Given the description of an element on the screen output the (x, y) to click on. 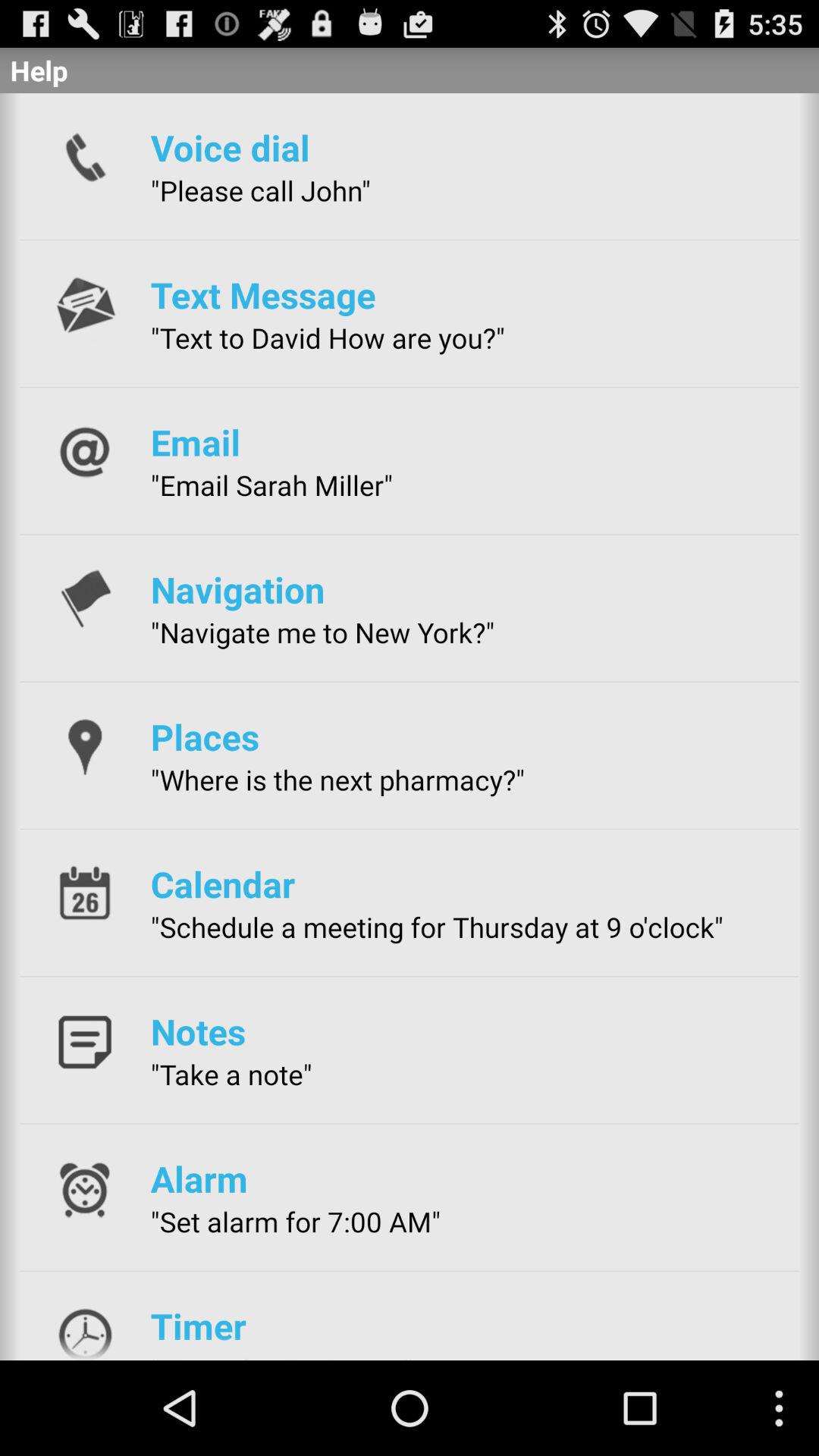
flip until text to david (327, 337)
